Given the description of an element on the screen output the (x, y) to click on. 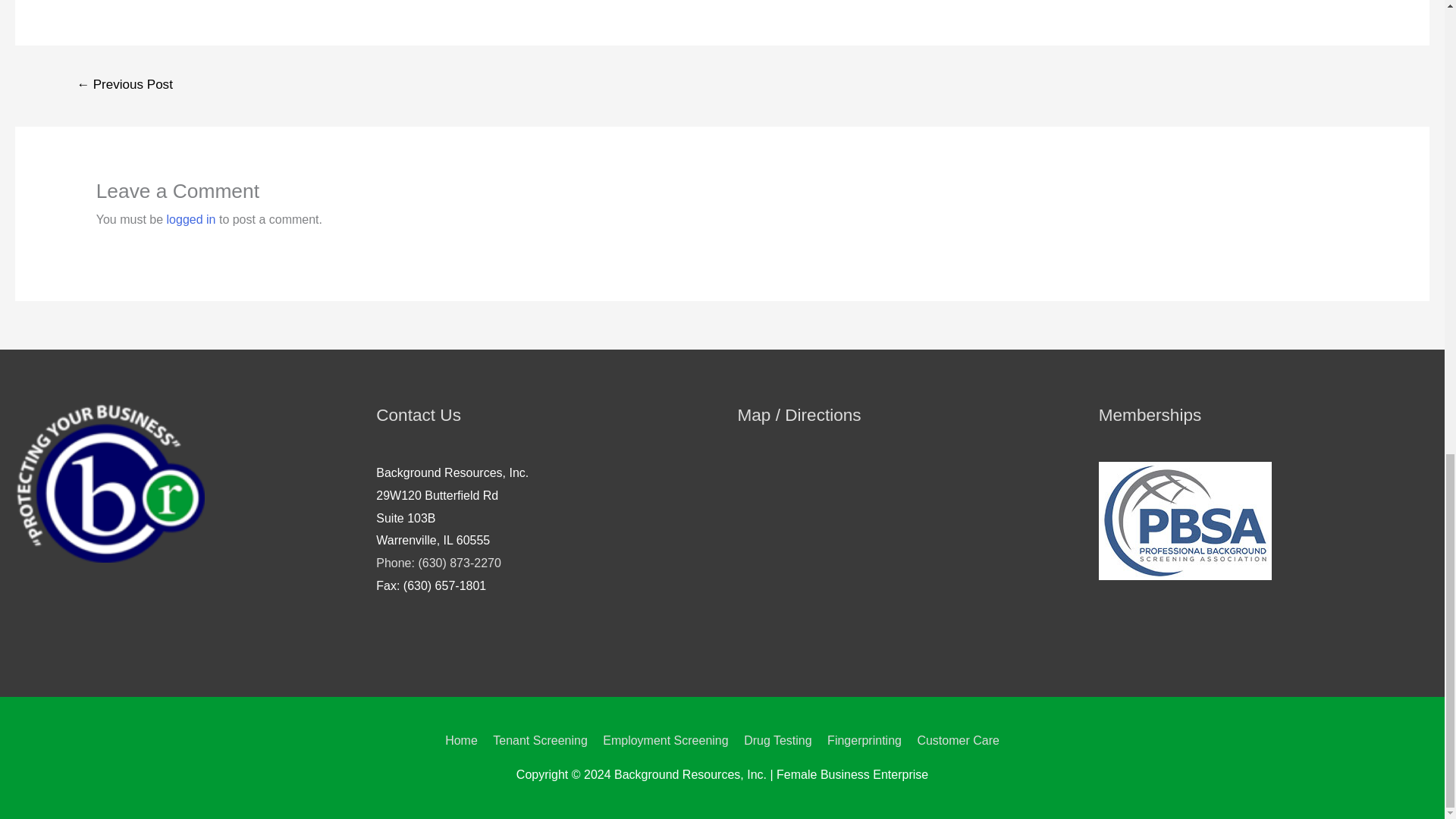
Employment Screening (664, 739)
Drug Testing (778, 739)
Tenant Screening (540, 739)
Customer Care (954, 739)
Home (464, 739)
Fingerprinting (864, 739)
logged in (191, 219)
